Given the description of an element on the screen output the (x, y) to click on. 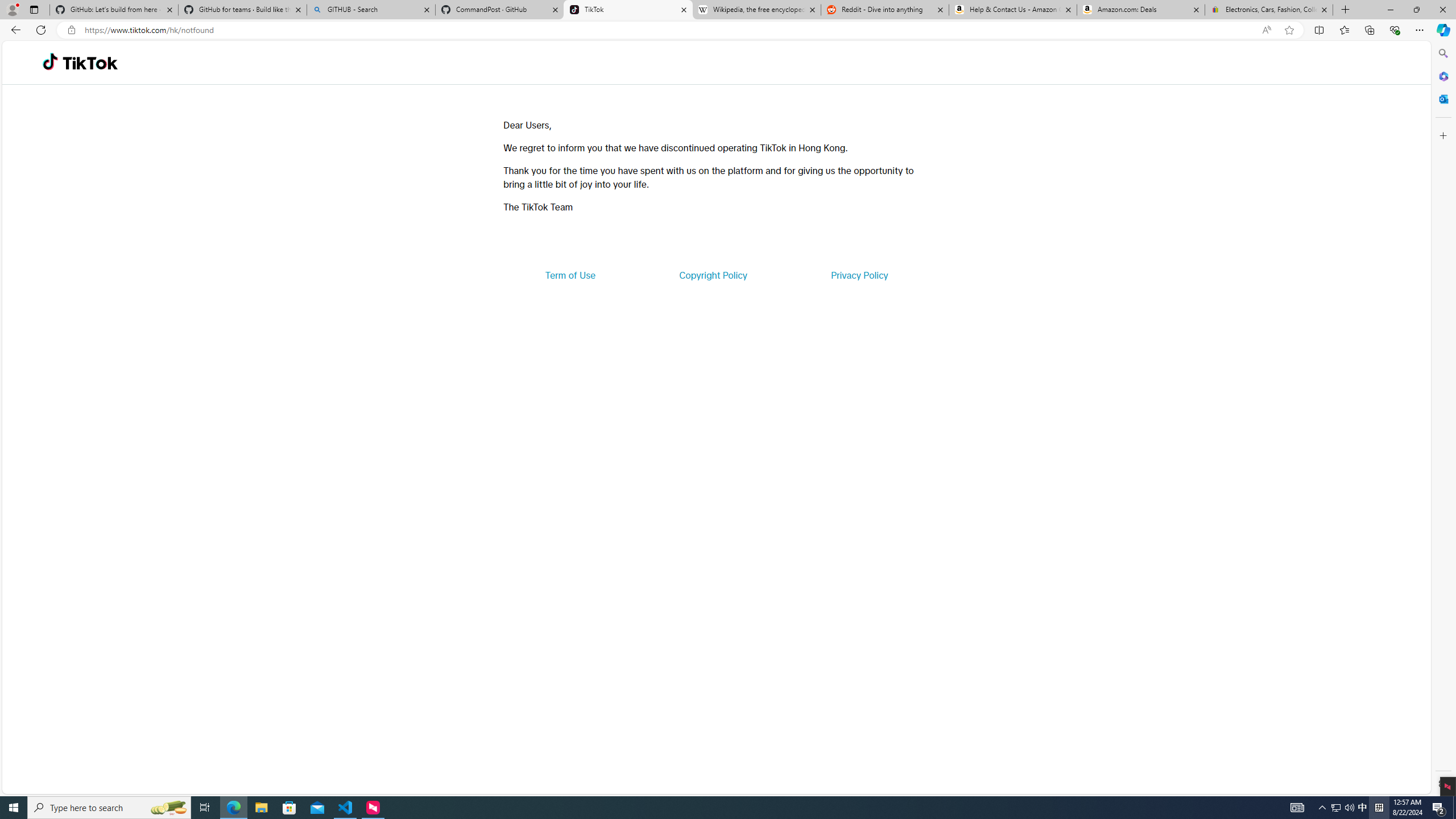
Amazon.com: Deals (1140, 9)
Privacy Policy (858, 274)
GITHUB - Search (370, 9)
